Given the description of an element on the screen output the (x, y) to click on. 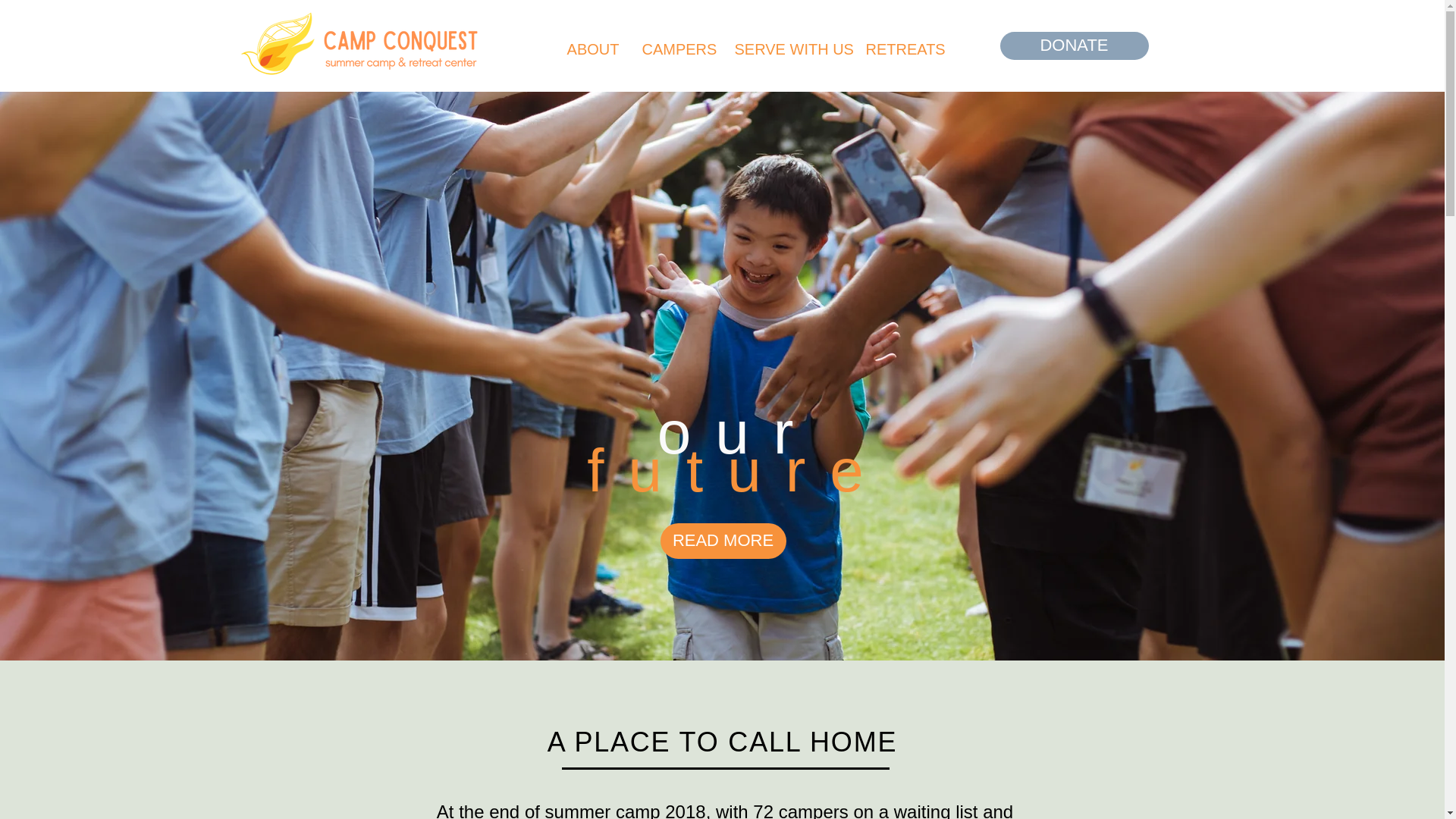
READ MORE (722, 540)
CAMPERS (676, 48)
SERVE WITH US (788, 48)
ABOUT (592, 48)
DONATE (1073, 45)
RETREATS (901, 48)
